Given the description of an element on the screen output the (x, y) to click on. 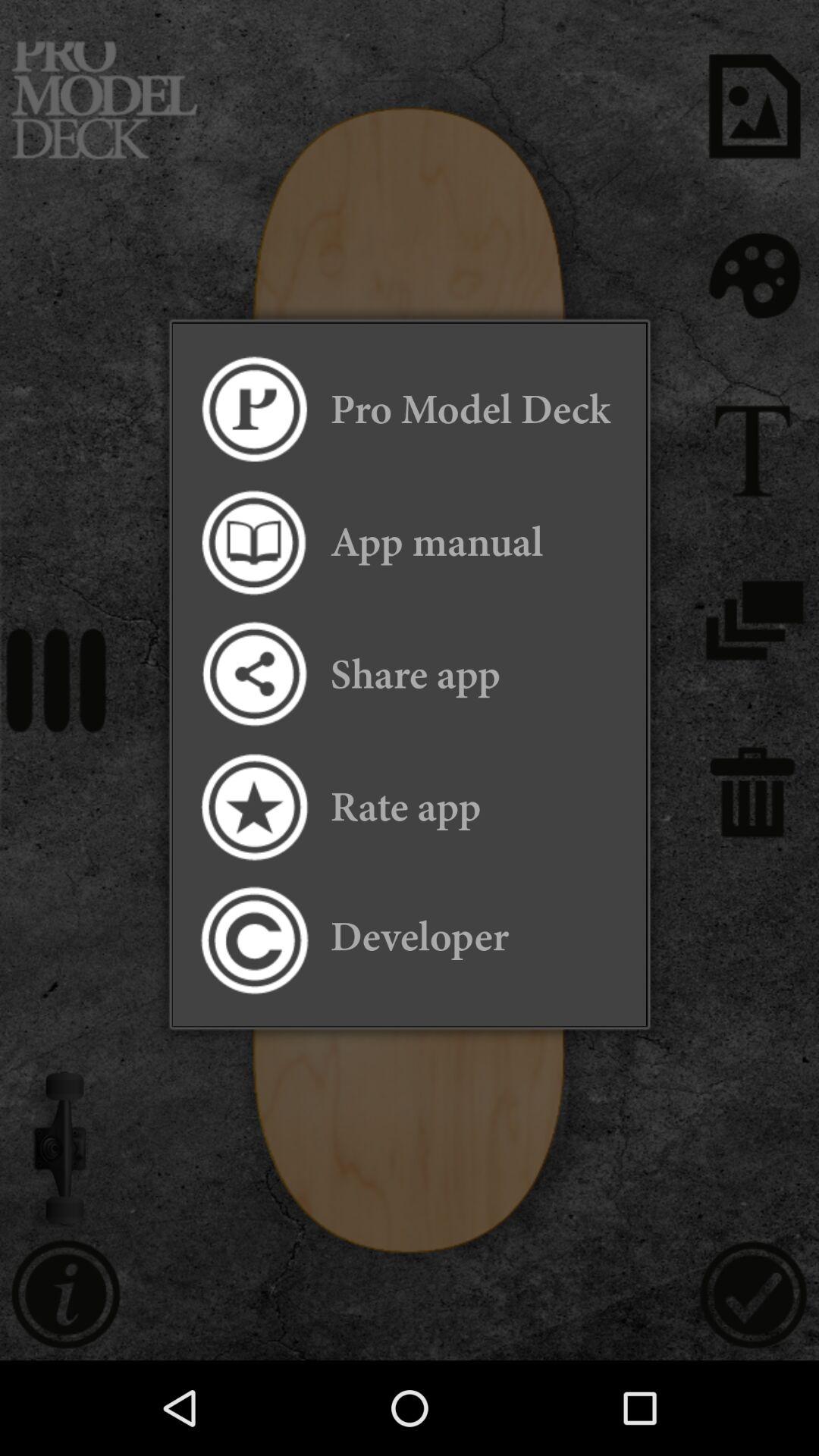
rate the app (253, 807)
